Given the description of an element on the screen output the (x, y) to click on. 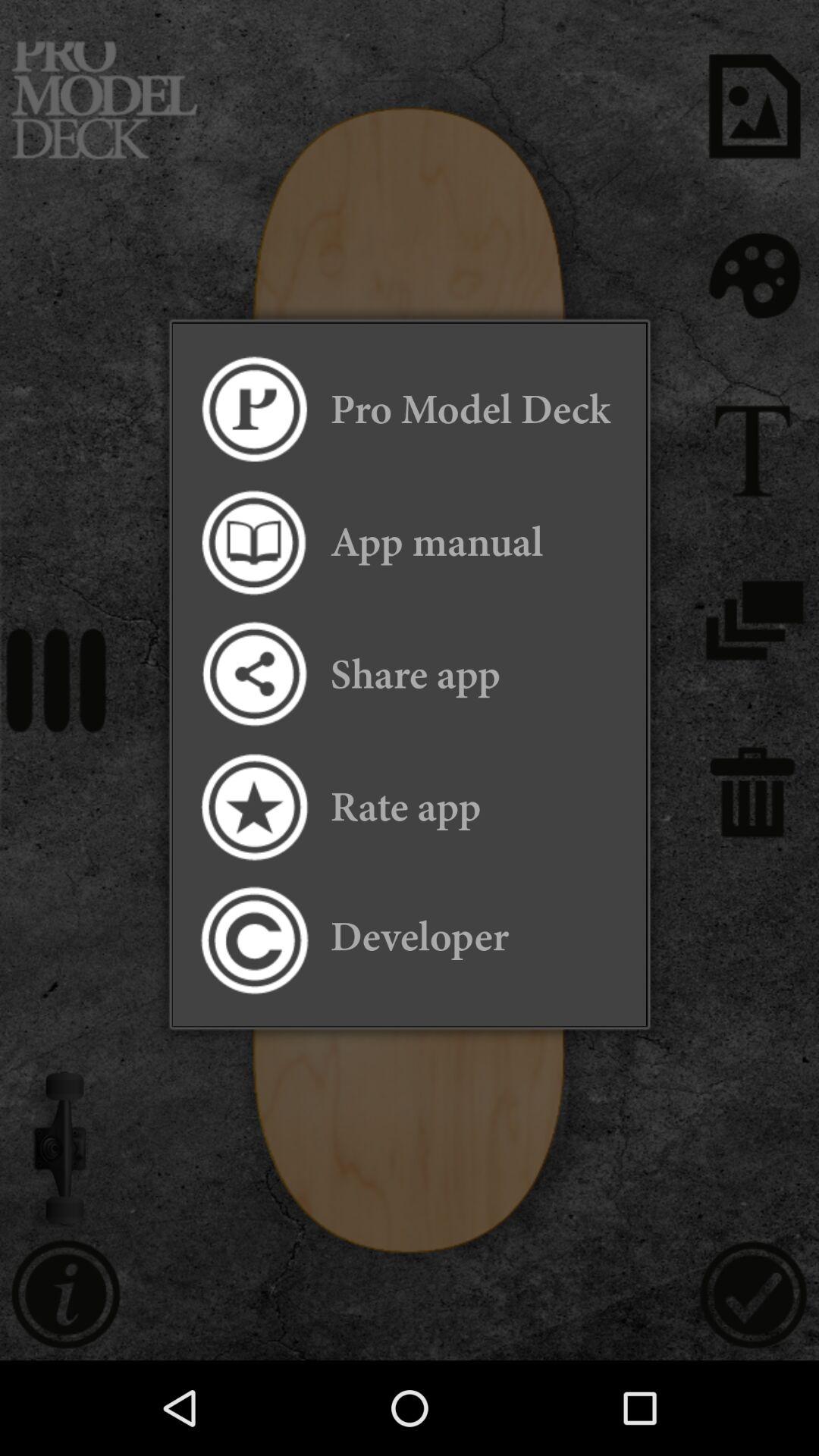
rate the app (253, 807)
